Given the description of an element on the screen output the (x, y) to click on. 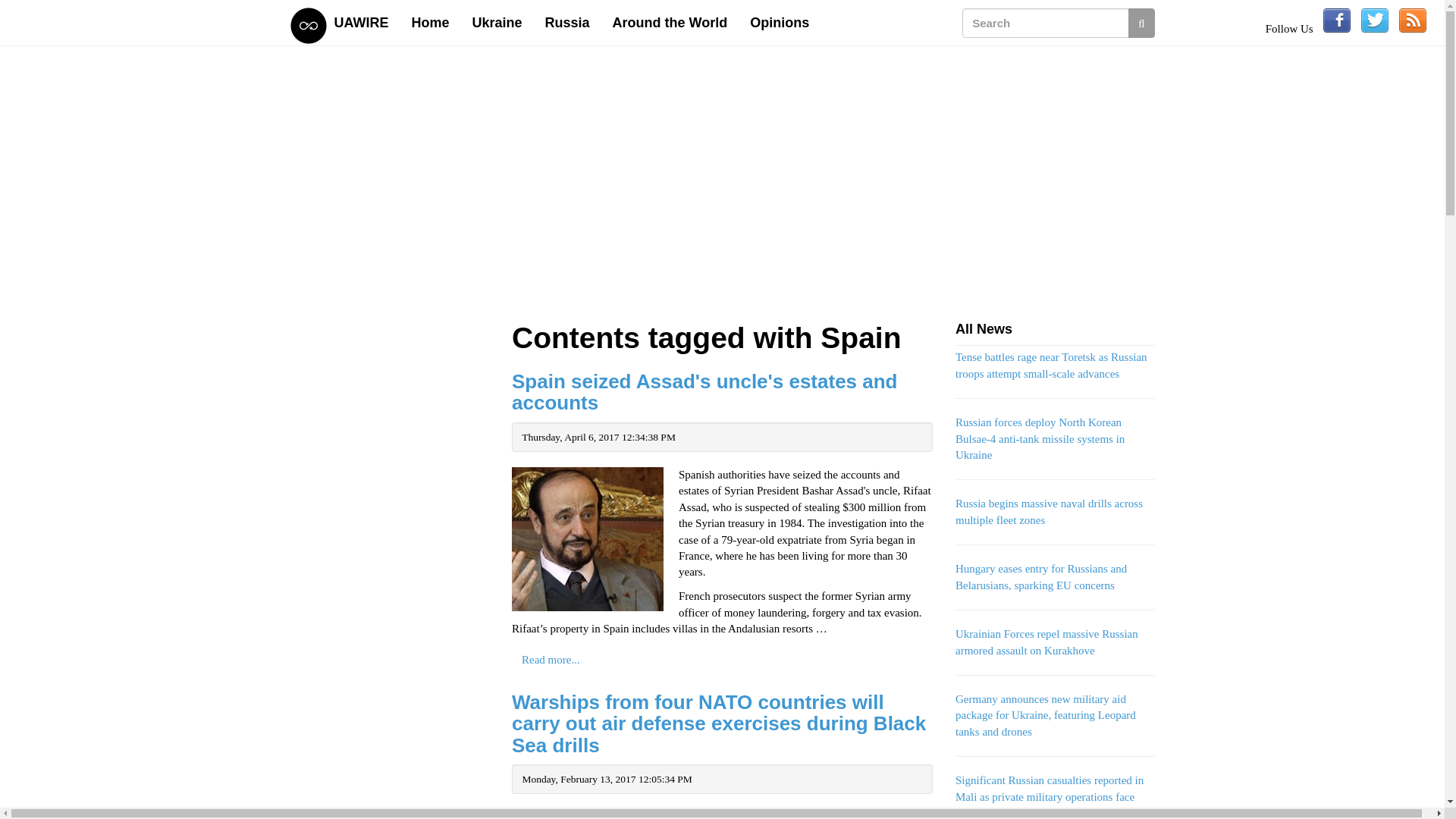
Opinions (779, 22)
Follow us on Facebook (1337, 20)
Spain seized Assad's uncle's estates and accounts (705, 392)
UAWIRE (361, 22)
Around the World (670, 22)
Russia (567, 22)
Ukraine (497, 22)
Subscribe to our rss feed (1412, 20)
Read more... (550, 659)
Follow us on Twitter (1375, 20)
Home (430, 22)
